Given the description of an element on the screen output the (x, y) to click on. 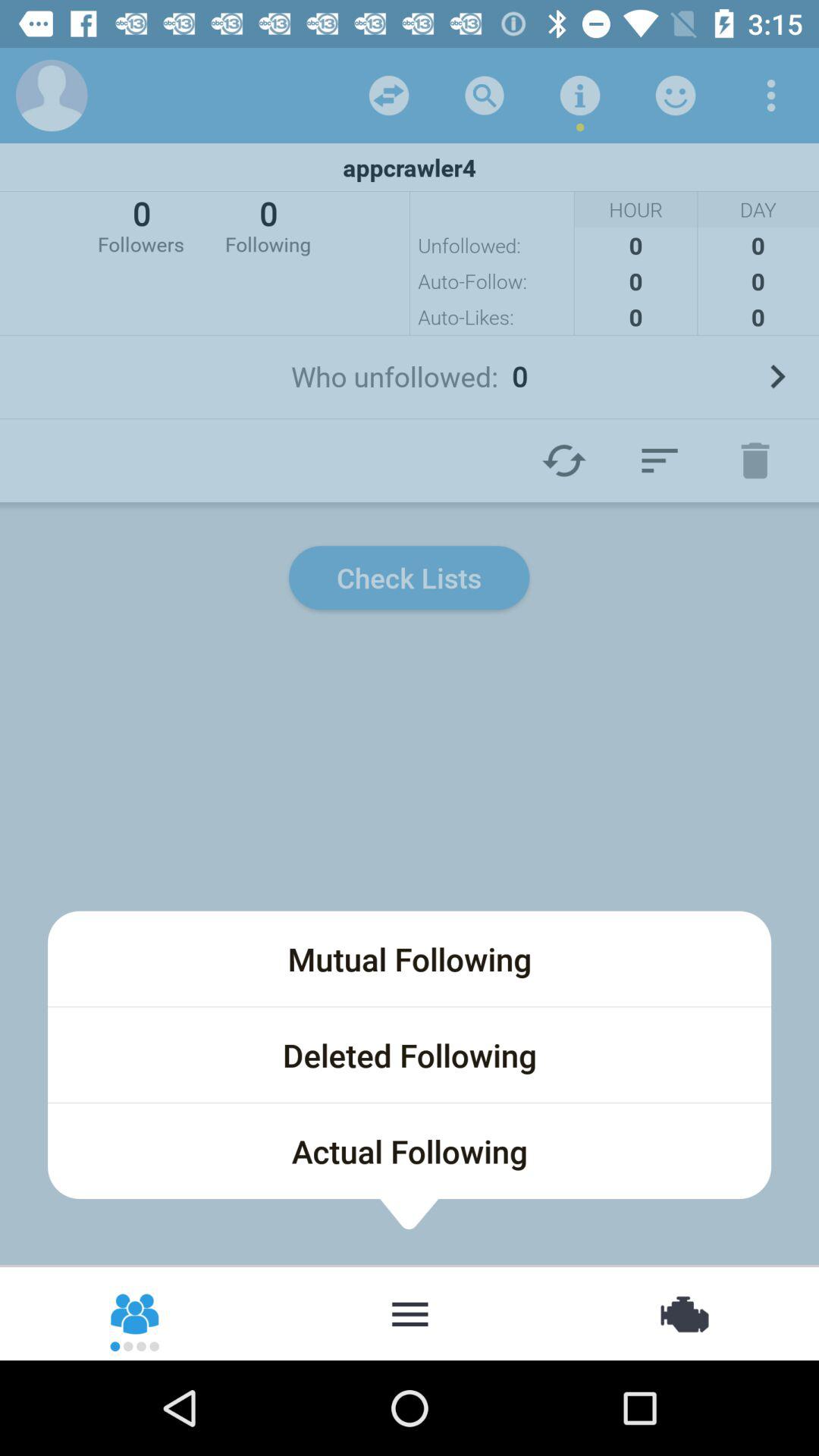
select the icon above appcrawler4 item (579, 95)
